Given the description of an element on the screen output the (x, y) to click on. 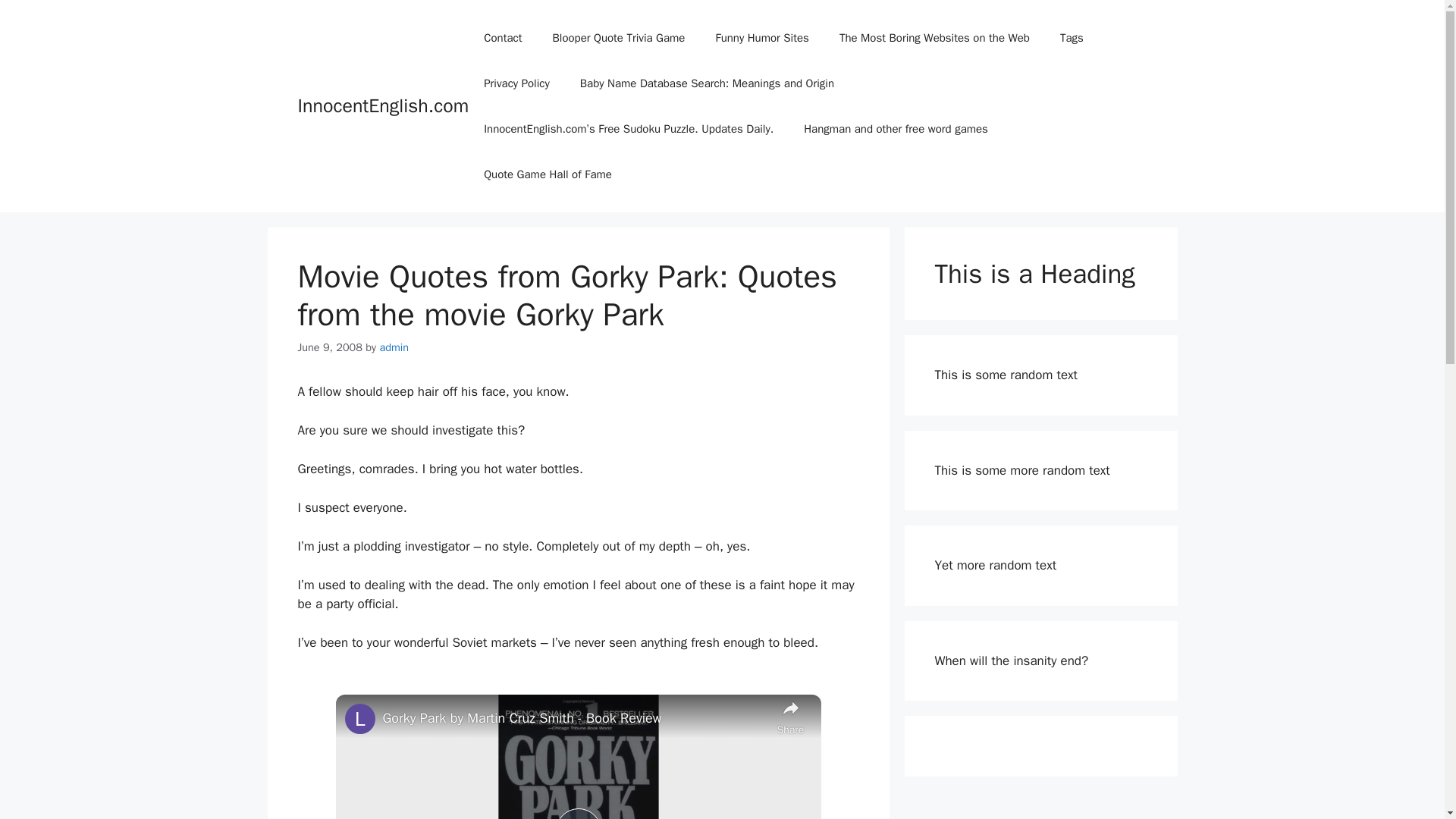
Blooper Quote Trivia Game (618, 37)
View all posts by admin (393, 346)
InnocentEnglish.com (382, 105)
Quote Game Hall of Fame (547, 174)
Play Video (576, 813)
Tags (1072, 37)
Play Video (576, 813)
The Most Boring Websites on the Web (934, 37)
Funny Humor Sites (762, 37)
Contact (502, 37)
Privacy Policy (516, 83)
Hangman and other free word games (896, 128)
Gorky Park by Martin Cruz Smith - Book Review (574, 718)
Baby Name Database Search: Meanings and Origin (706, 83)
admin (393, 346)
